Given the description of an element on the screen output the (x, y) to click on. 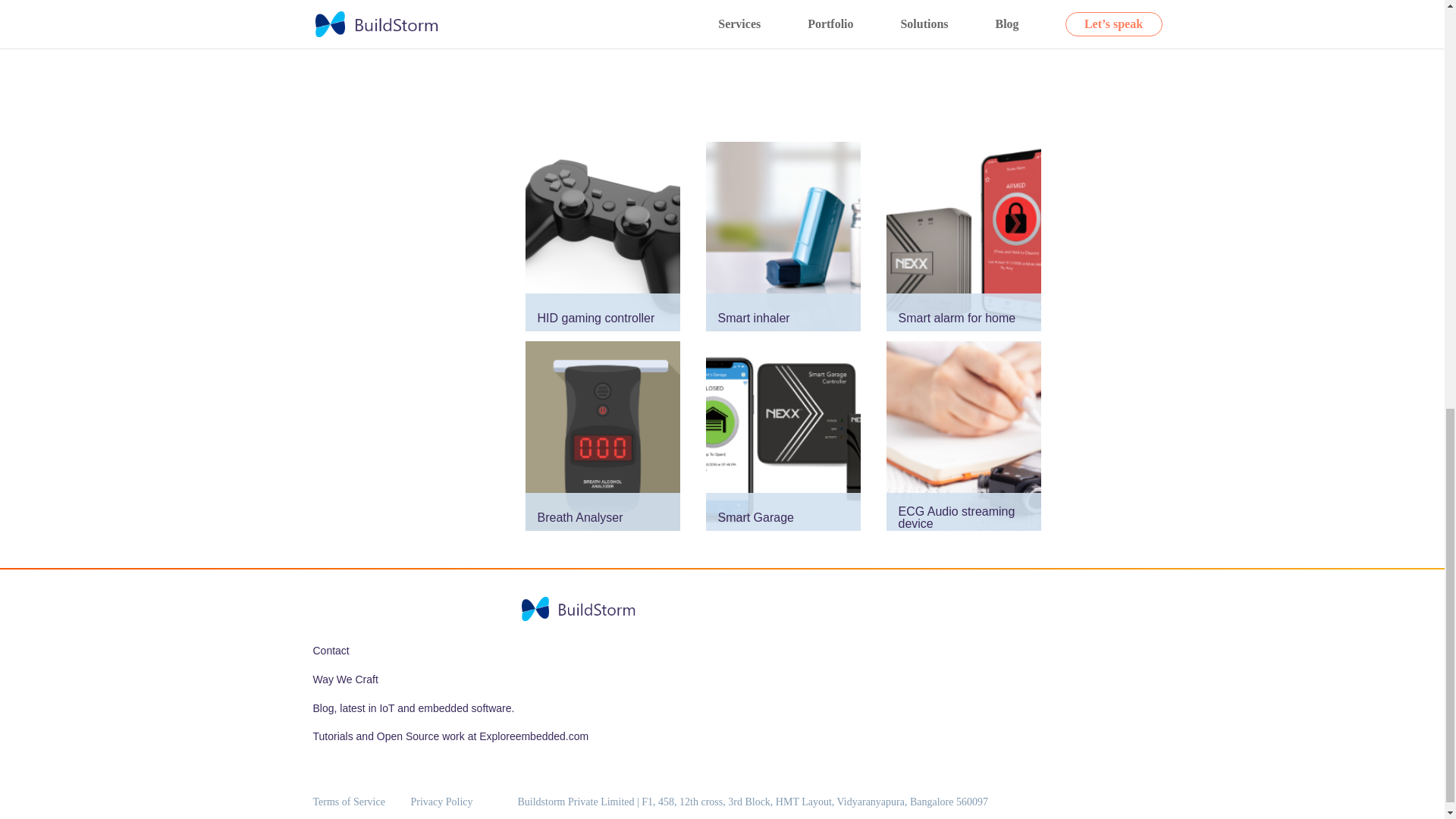
Terms of Service (348, 801)
Privacy Policy (440, 801)
Group 849 (578, 608)
